Given the description of an element on the screen output the (x, y) to click on. 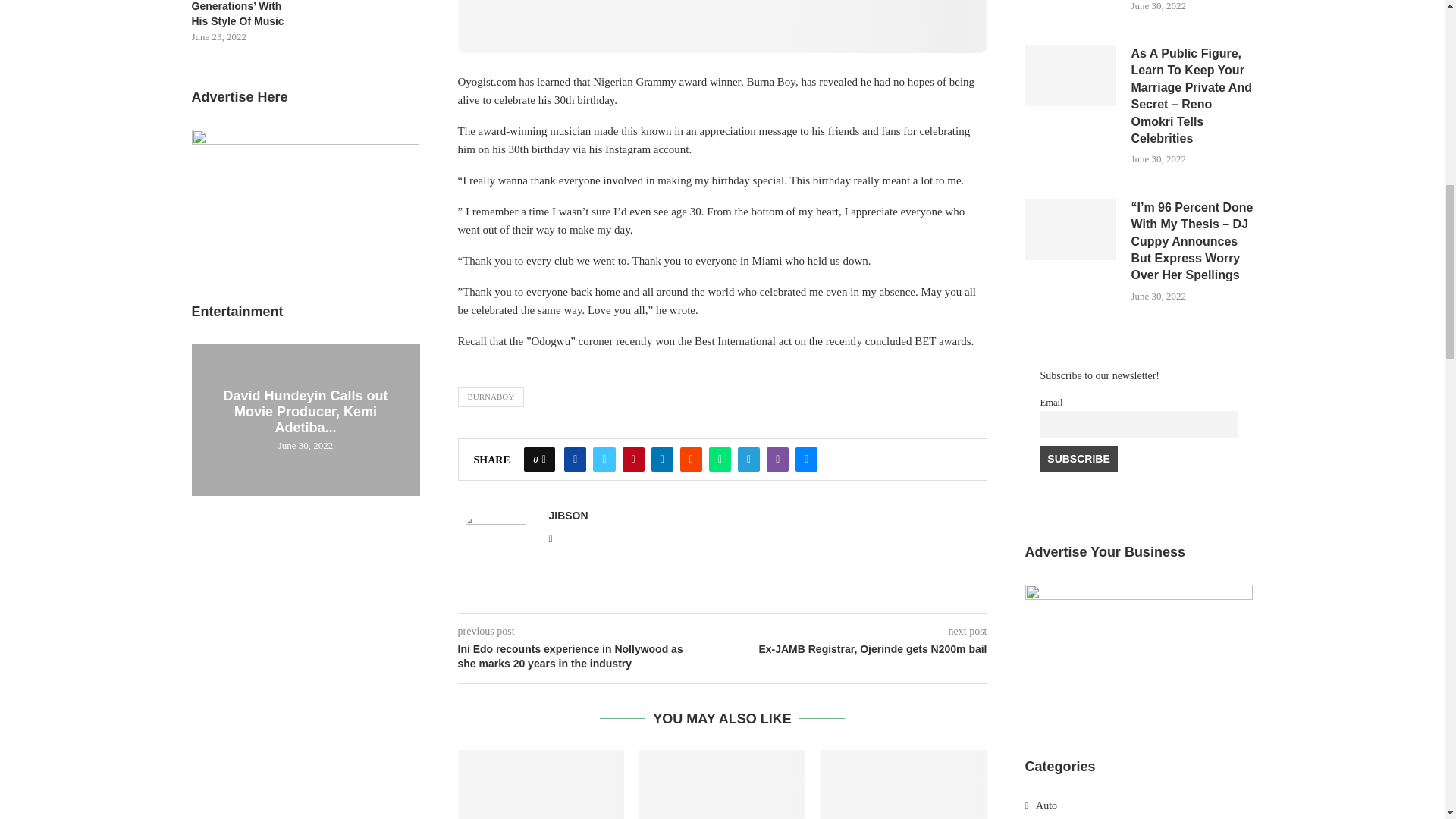
Like (543, 459)
Subscribe (1079, 459)
Author Jibson (568, 515)
